Given the description of an element on the screen output the (x, y) to click on. 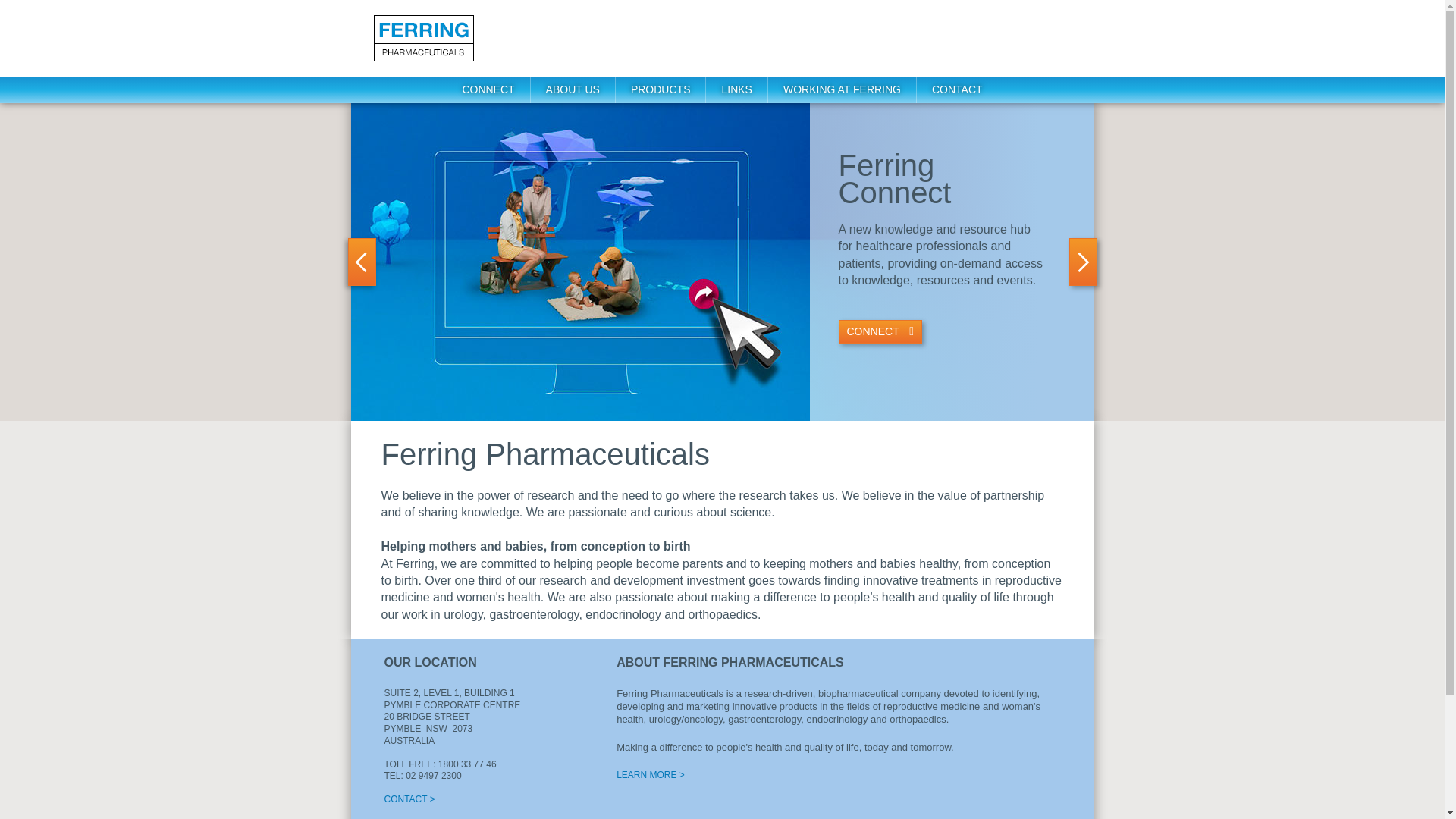
CONTACT Element type: text (956, 89)
PRODUCTS Element type: text (660, 89)
LEARN MORE > Element type: text (650, 774)
ABOUT US Element type: text (572, 89)
CONTACT > Element type: text (408, 798)
CONNECT Element type: text (880, 332)
LINKS Element type: text (736, 89)
